Given the description of an element on the screen output the (x, y) to click on. 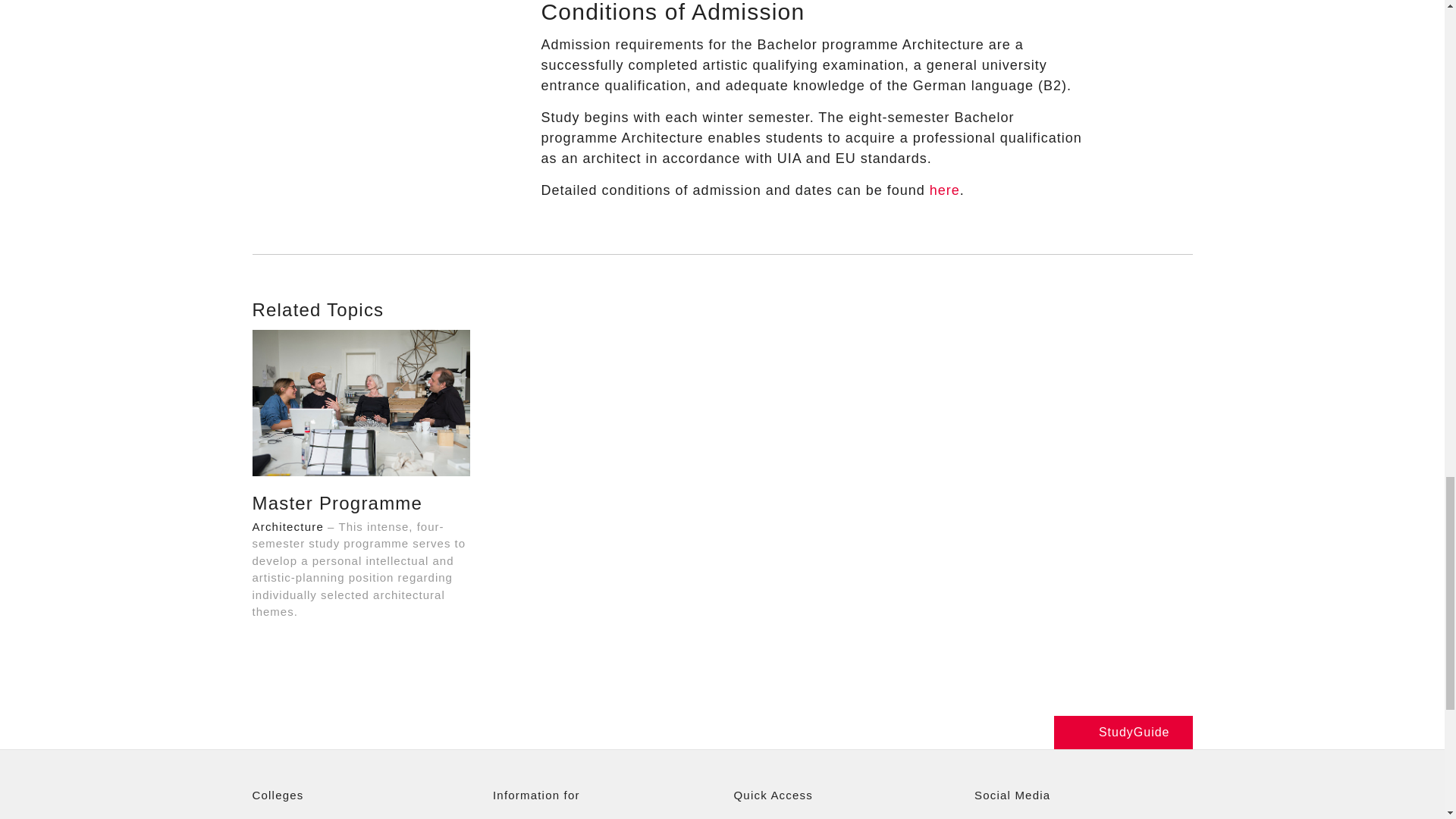
Foto: Matthias Heyde (360, 402)
here (944, 190)
